Given the description of an element on the screen output the (x, y) to click on. 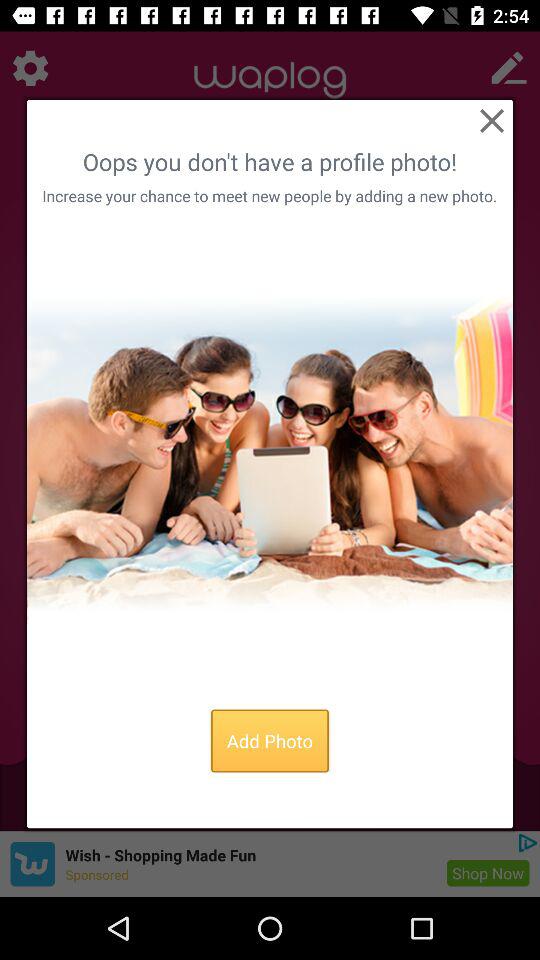
get rid off advertisement (491, 120)
